Given the description of an element on the screen output the (x, y) to click on. 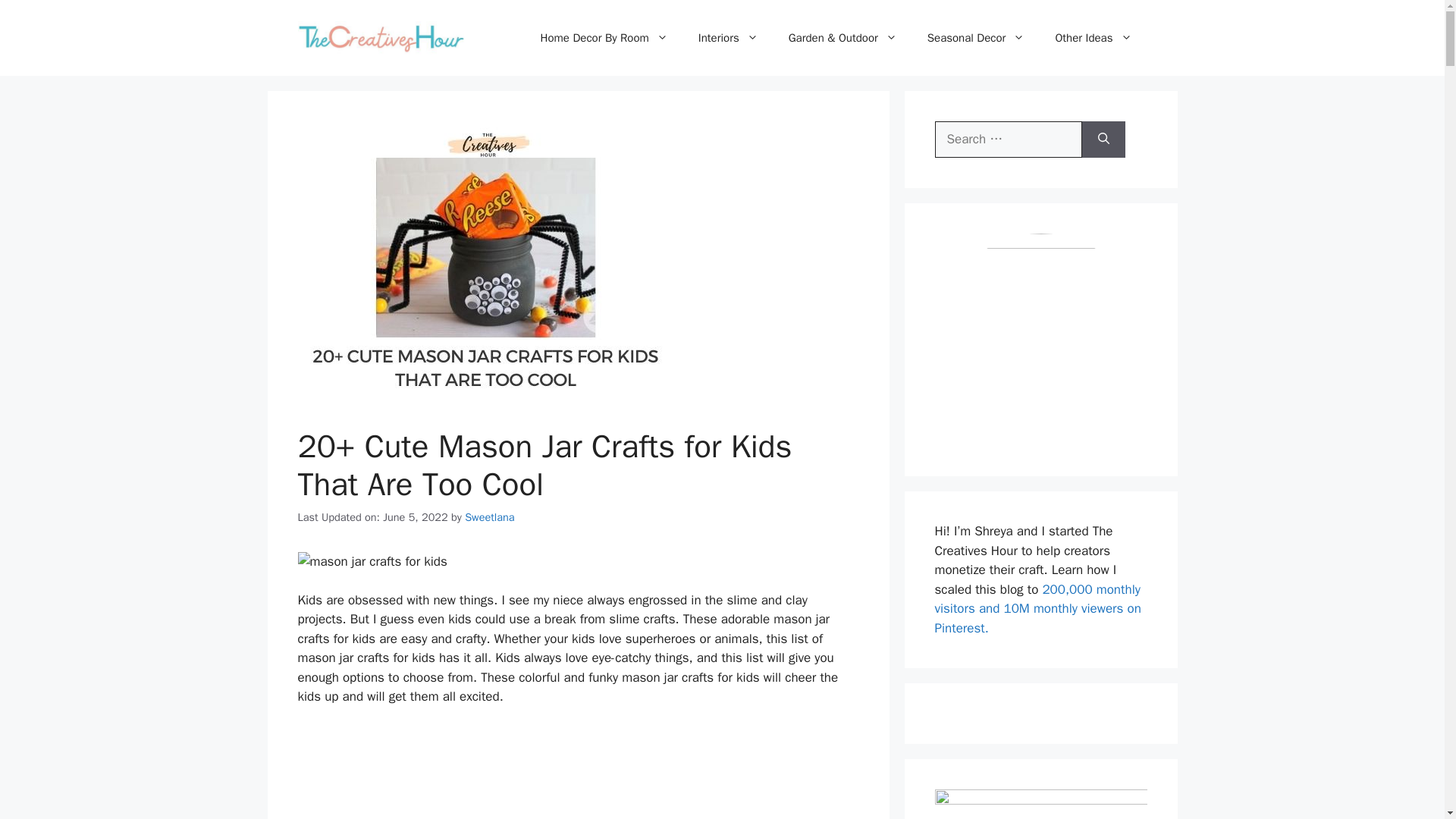
Seasonal Decor (976, 37)
Home Decor By Room (603, 37)
View all posts by Sweetlana (488, 517)
Other Ideas (1093, 37)
Search for: (1007, 139)
Interiors (727, 37)
